Given the description of an element on the screen output the (x, y) to click on. 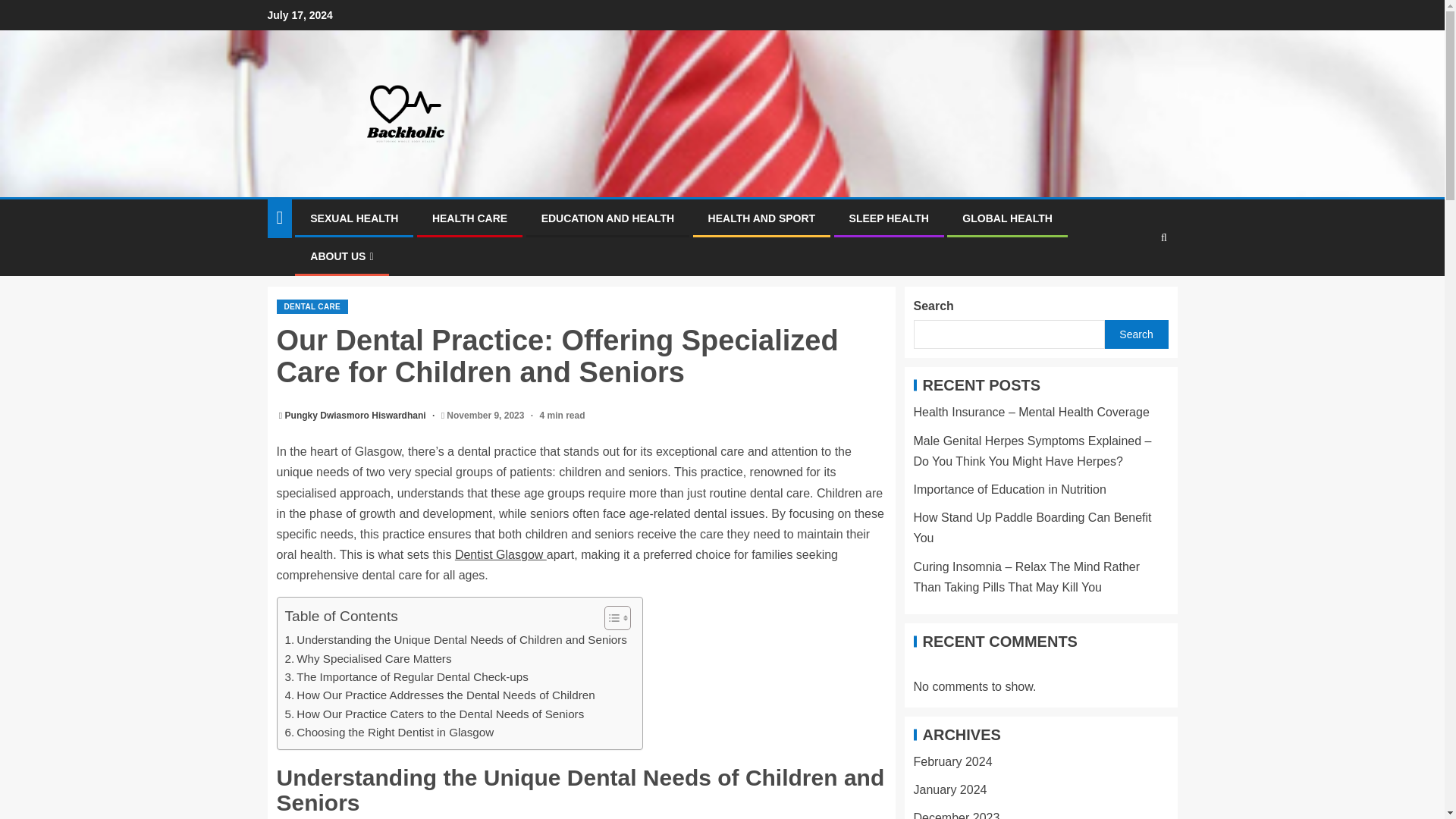
Home (282, 260)
EDUCATION AND HEALTH (608, 218)
HEALTH AND SPORT (761, 218)
Search (1133, 284)
The Importance of Regular Dental Check-ups (406, 677)
The Importance of Regular Dental Check-ups (406, 677)
Choosing the Right Dentist in Glasgow (390, 732)
GLOBAL HEALTH (1006, 218)
SEXUAL HEALTH (353, 218)
ABOUT US (341, 256)
Dentist Glasgow (500, 554)
Choosing the Right Dentist in Glasgow (390, 732)
SLEEP HEALTH (888, 218)
How Our Practice Caters to the Dental Needs of Seniors (435, 714)
Pungky Dwiasmoro Hiswardhani (356, 415)
